Given the description of an element on the screen output the (x, y) to click on. 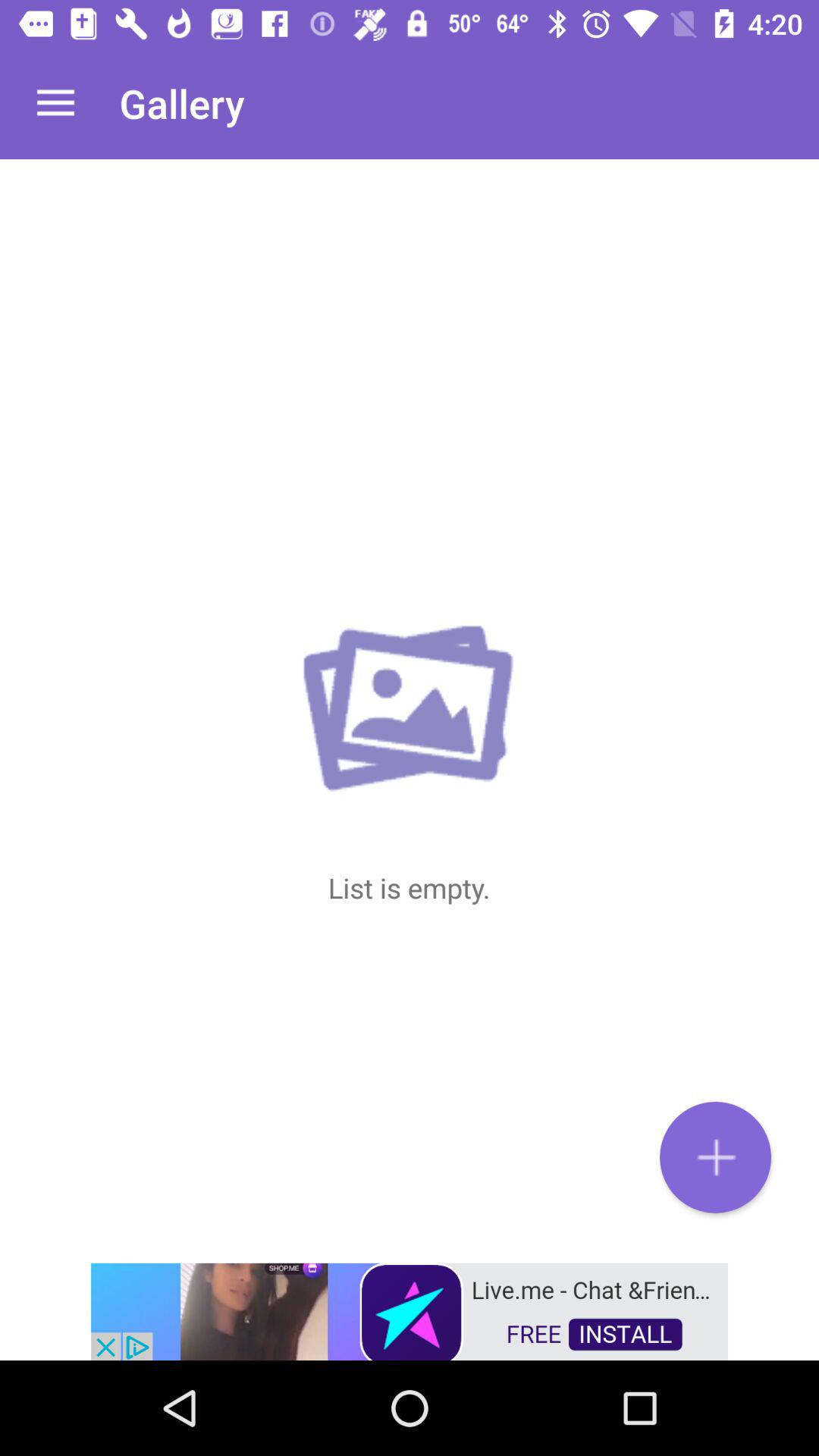
opens the add photo option (715, 1157)
